Given the description of an element on the screen output the (x, y) to click on. 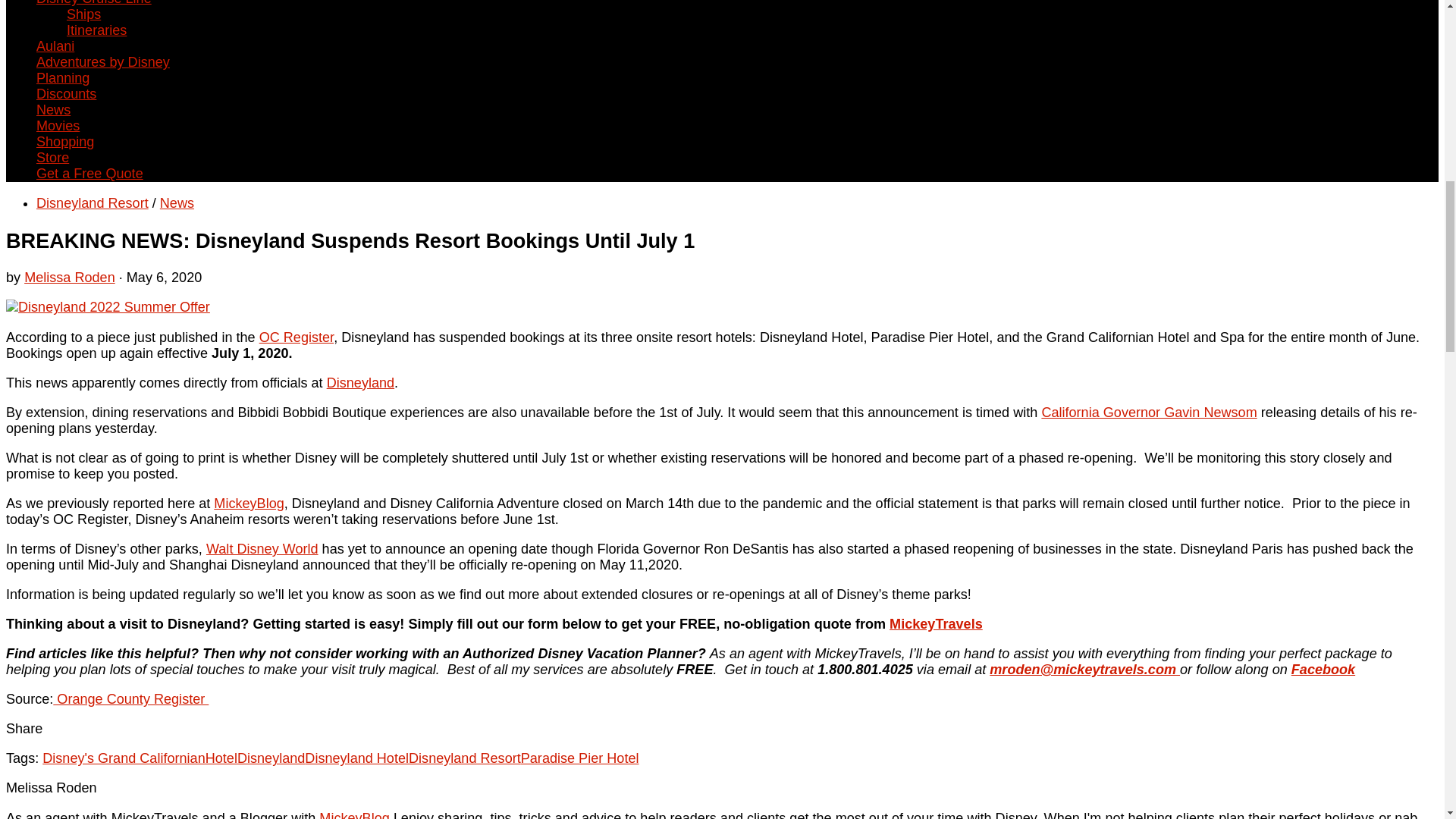
Posts by Melissa Roden (69, 277)
